Given the description of an element on the screen output the (x, y) to click on. 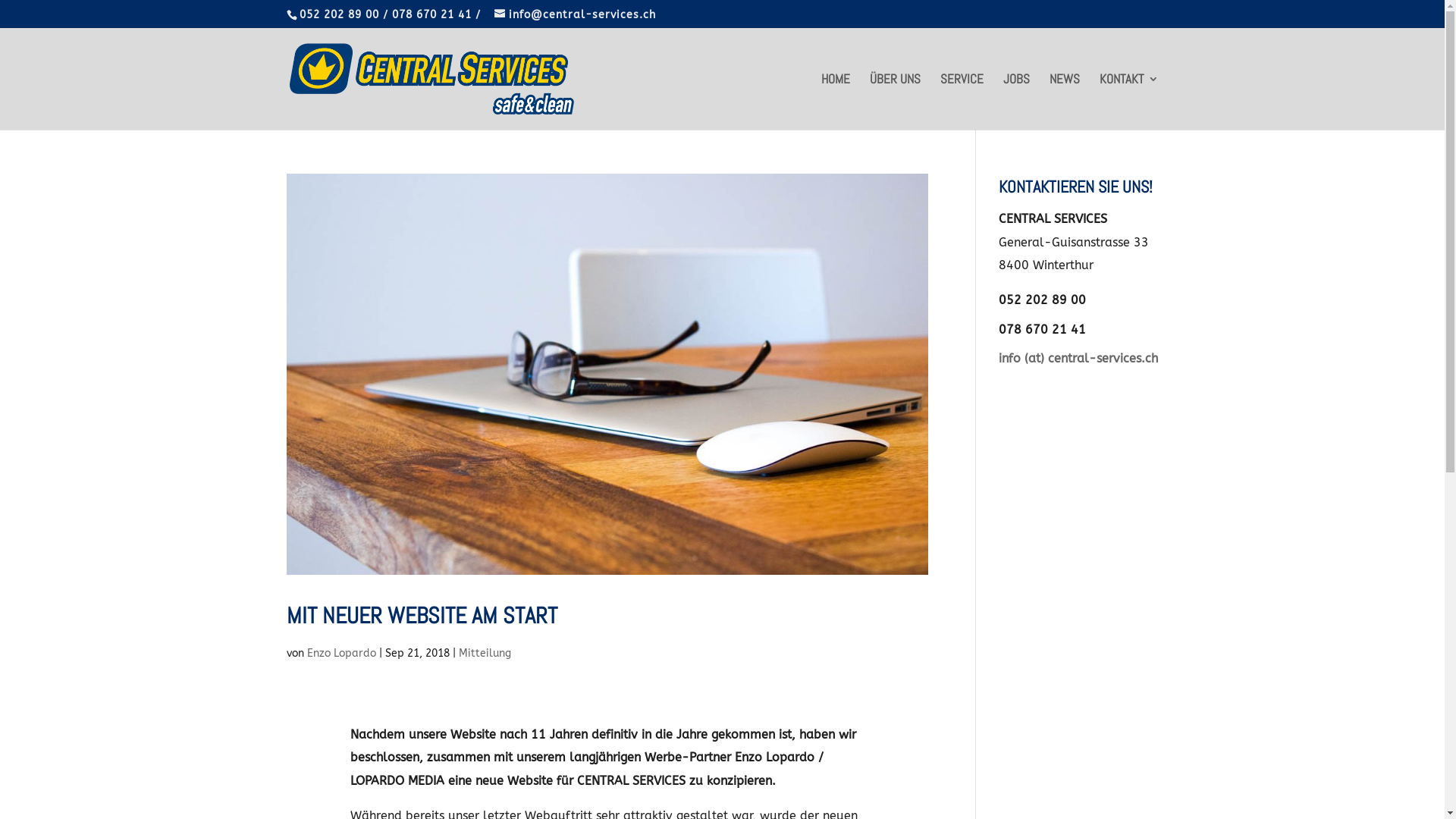
info@central-services.ch Element type: text (574, 13)
MIT NEUER WEBSITE AM START Element type: text (421, 615)
Mitteilung Element type: text (484, 652)
NEWS Element type: text (1064, 101)
JOBS Element type: text (1015, 101)
SERVICE Element type: text (961, 101)
Enzo Lopardo Element type: text (340, 652)
HOME Element type: text (834, 101)
KONTAKT Element type: text (1128, 101)
info (at) central-services.ch Element type: text (1077, 358)
